Given the description of an element on the screen output the (x, y) to click on. 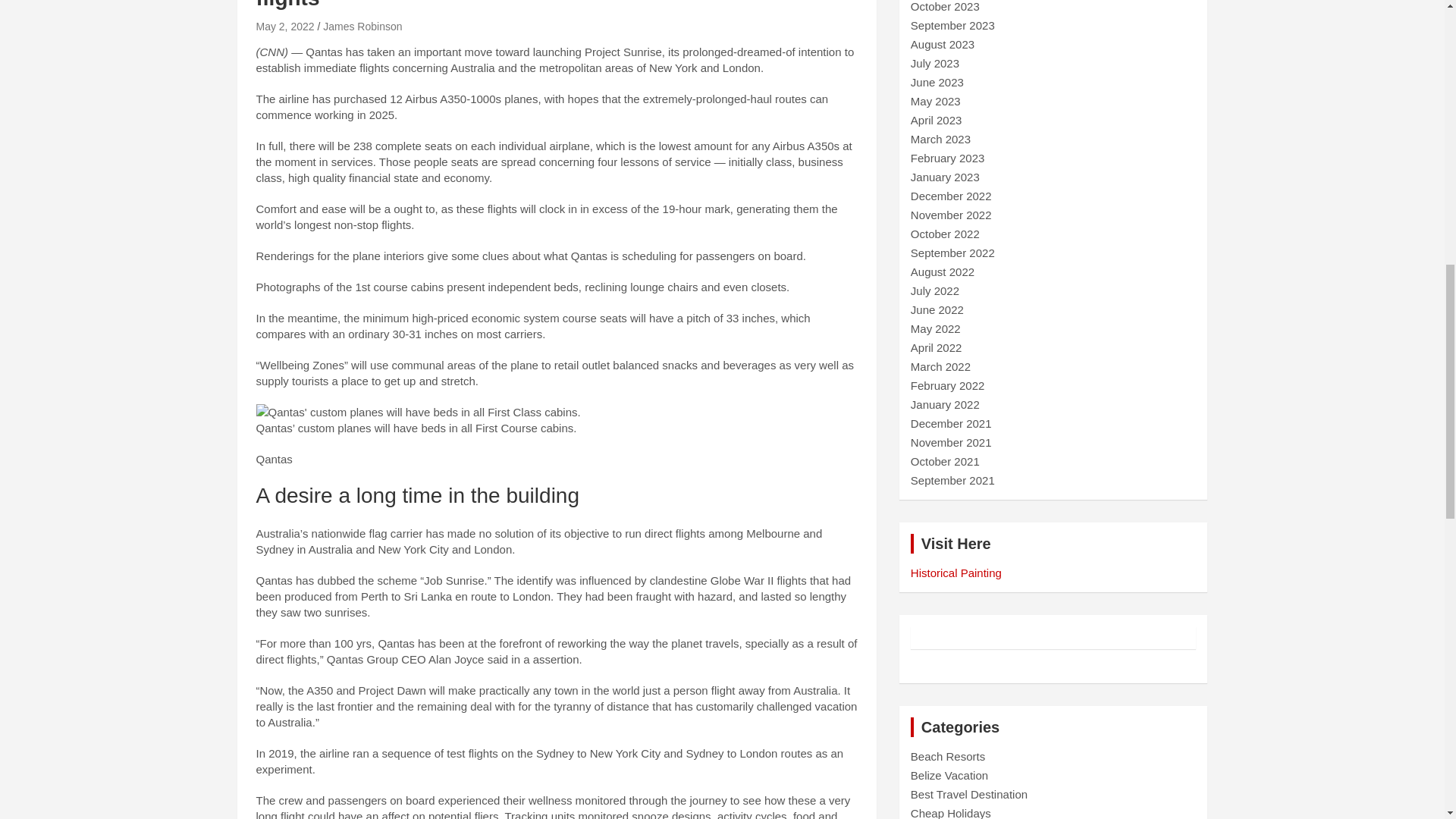
October 2023 (945, 6)
May 2, 2022 (285, 26)
James Robinson (362, 26)
